Given the description of an element on the screen output the (x, y) to click on. 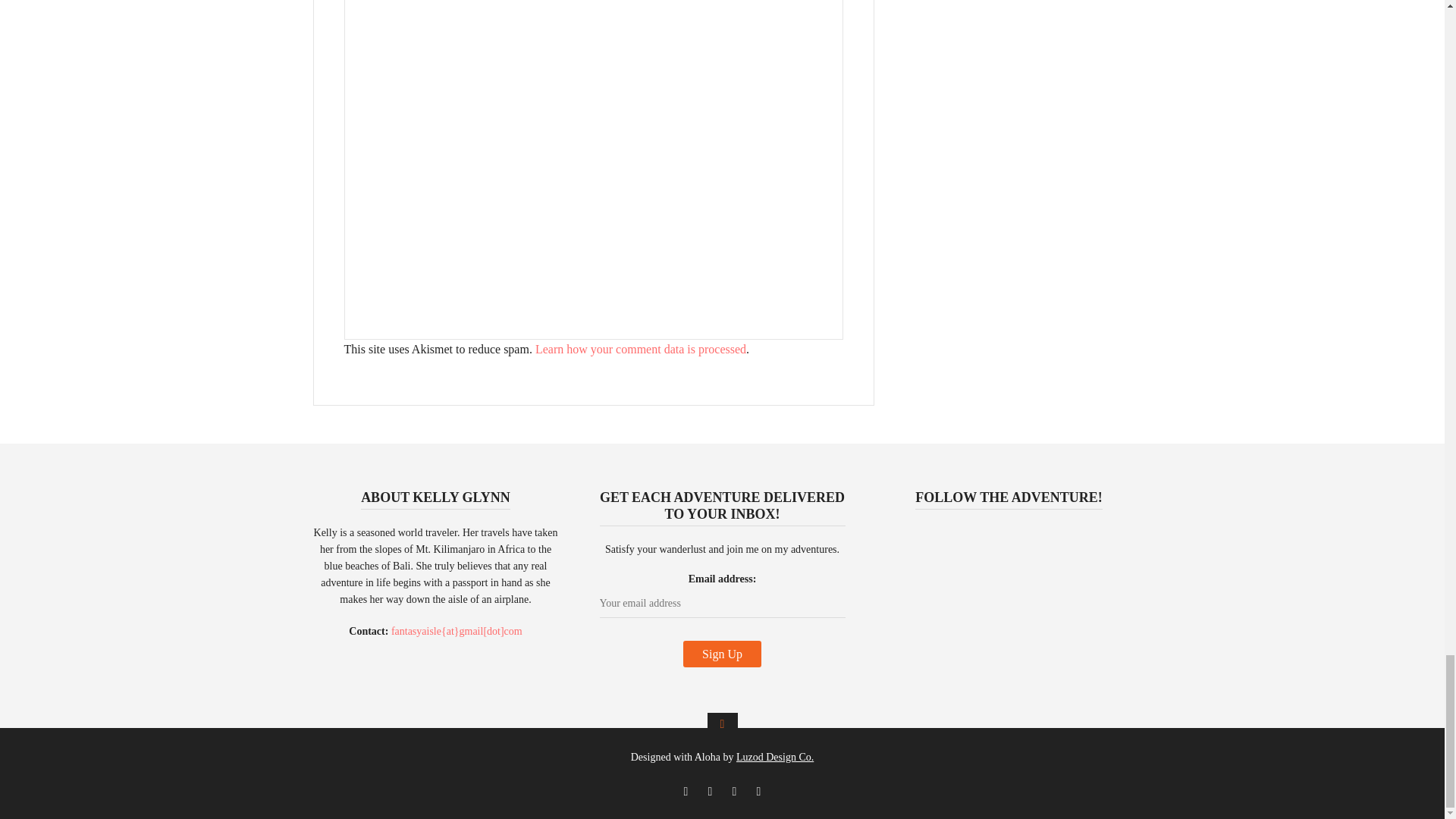
Sign up (721, 653)
